Given the description of an element on the screen output the (x, y) to click on. 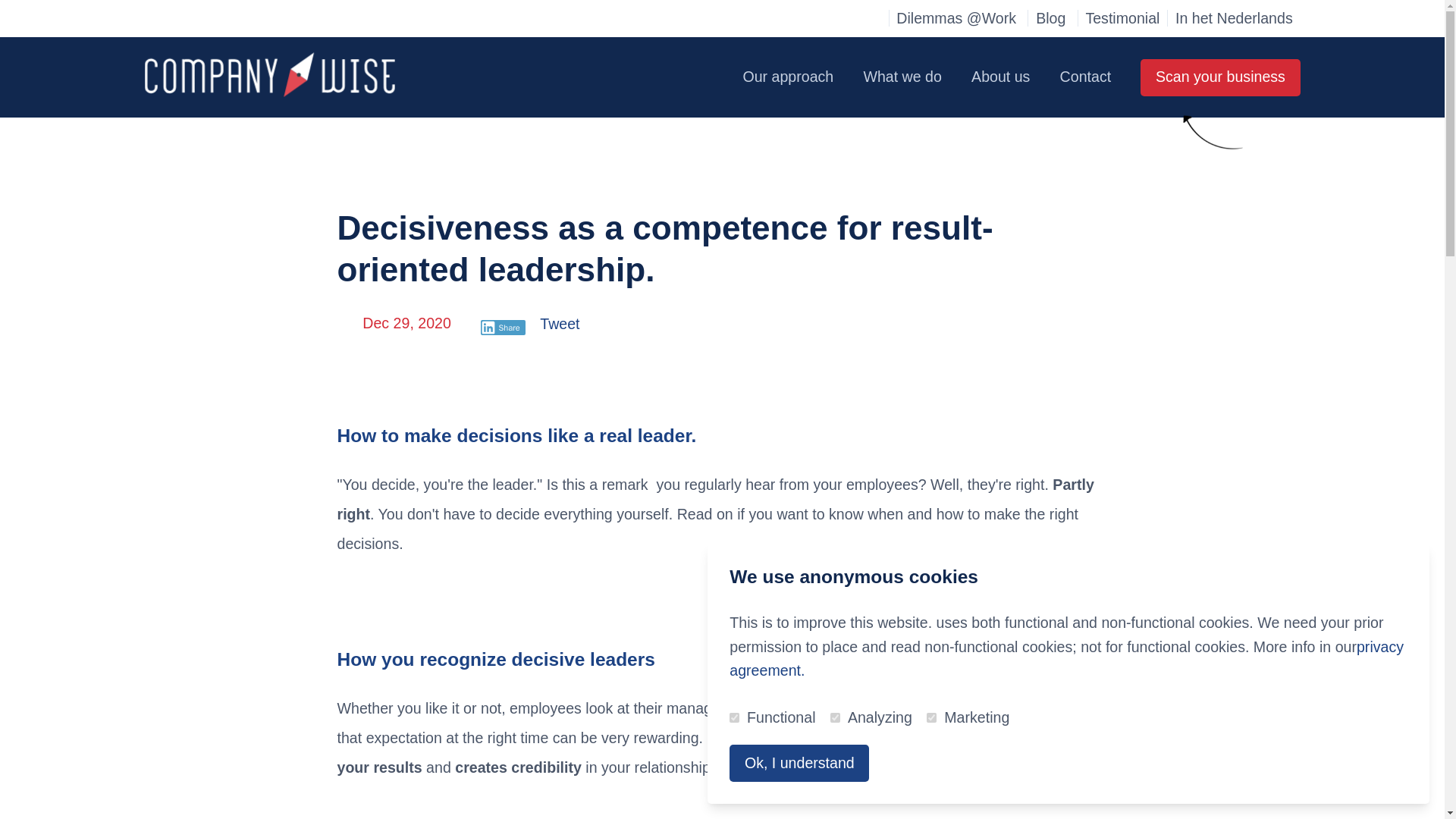
on (834, 717)
Testimonial (1122, 17)
Contact (1085, 77)
Our approach (788, 77)
In het Nederlands (1233, 18)
What we do (902, 77)
Testimonial (1122, 17)
Scan your business (1220, 77)
Blog (1050, 17)
privacy agreement. (1066, 658)
Blog (1050, 17)
Homepage (269, 74)
About us (1000, 77)
on (734, 717)
Share (502, 327)
